Given the description of an element on the screen output the (x, y) to click on. 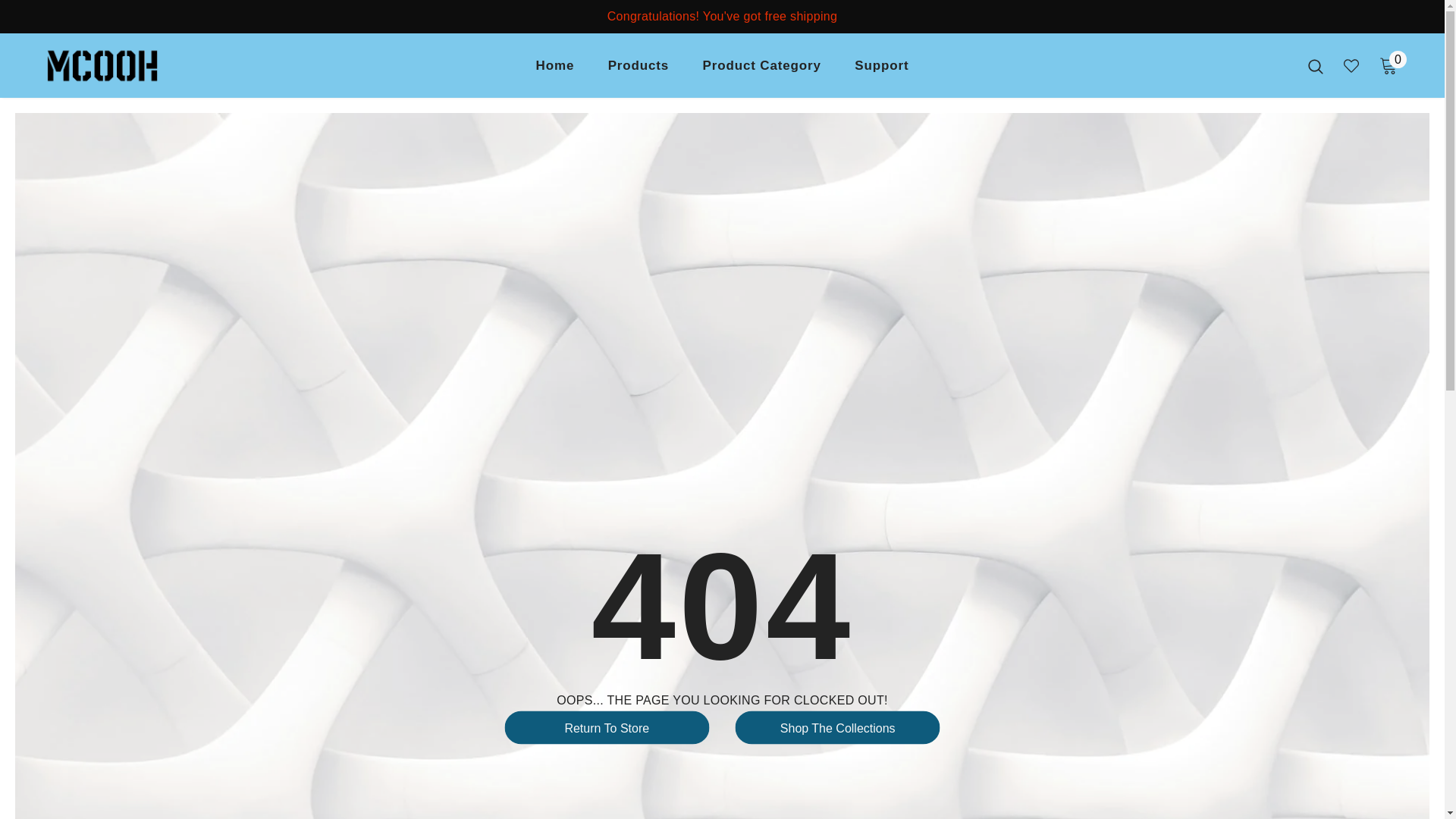
Logo (134, 65)
Products (638, 69)
Product Category (762, 69)
Support (881, 69)
